Given the description of an element on the screen output the (x, y) to click on. 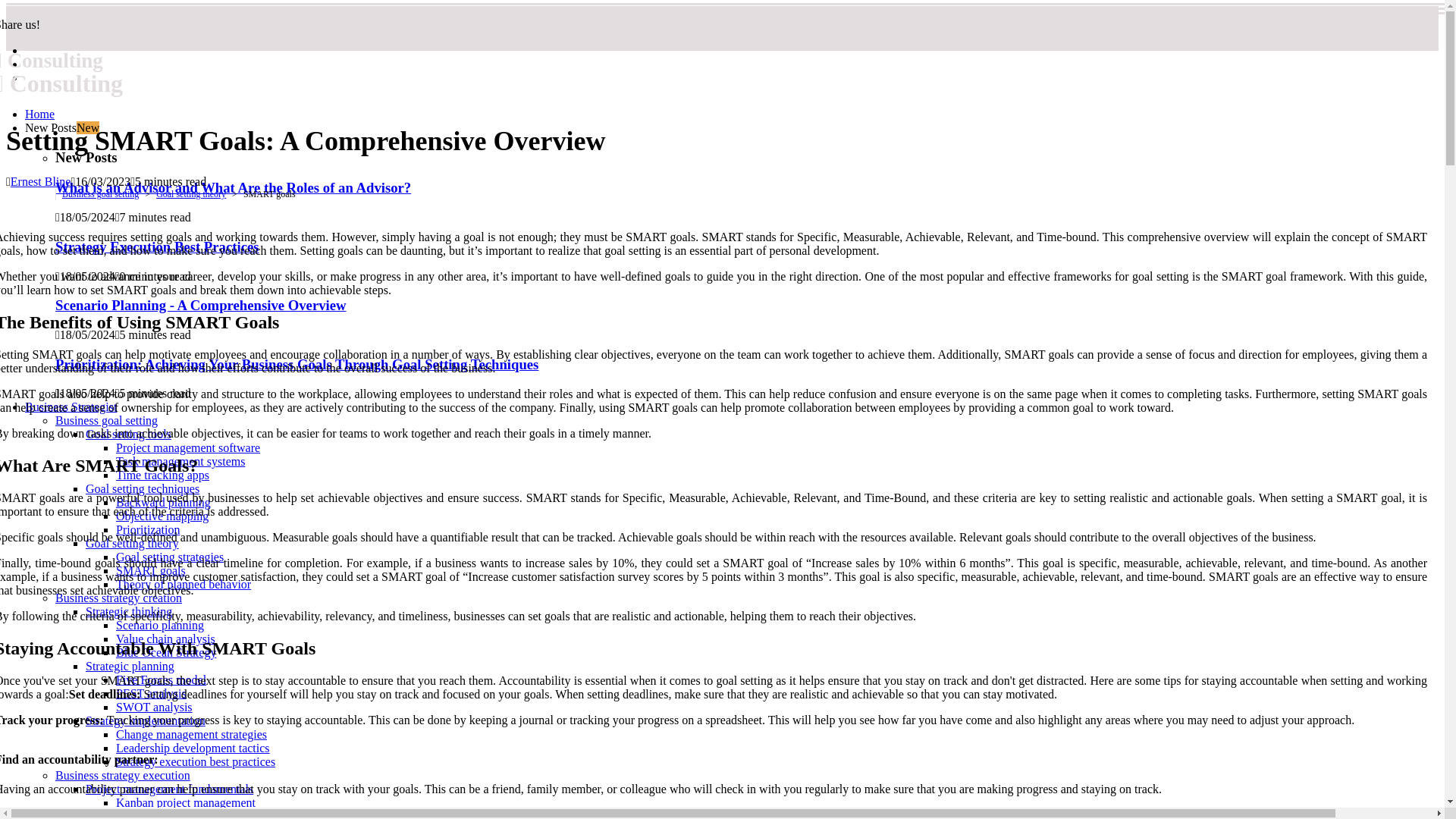
Goal setting tools (128, 433)
Scenario Planning - A Comprehensive Overview (200, 304)
Strategic planning (129, 666)
New PostsNew (61, 127)
Theory of planned behavior (183, 584)
Goal setting theory (132, 543)
Business strategy creation (118, 597)
Project management software (188, 447)
Blue Ocean Strategy (165, 652)
Five Forces model (161, 679)
Strategy Execution Best Practices (157, 246)
PEST analysis (151, 693)
Goal setting strategies (170, 556)
Strategy implementation (145, 720)
Backward planning (163, 502)
